Given the description of an element on the screen output the (x, y) to click on. 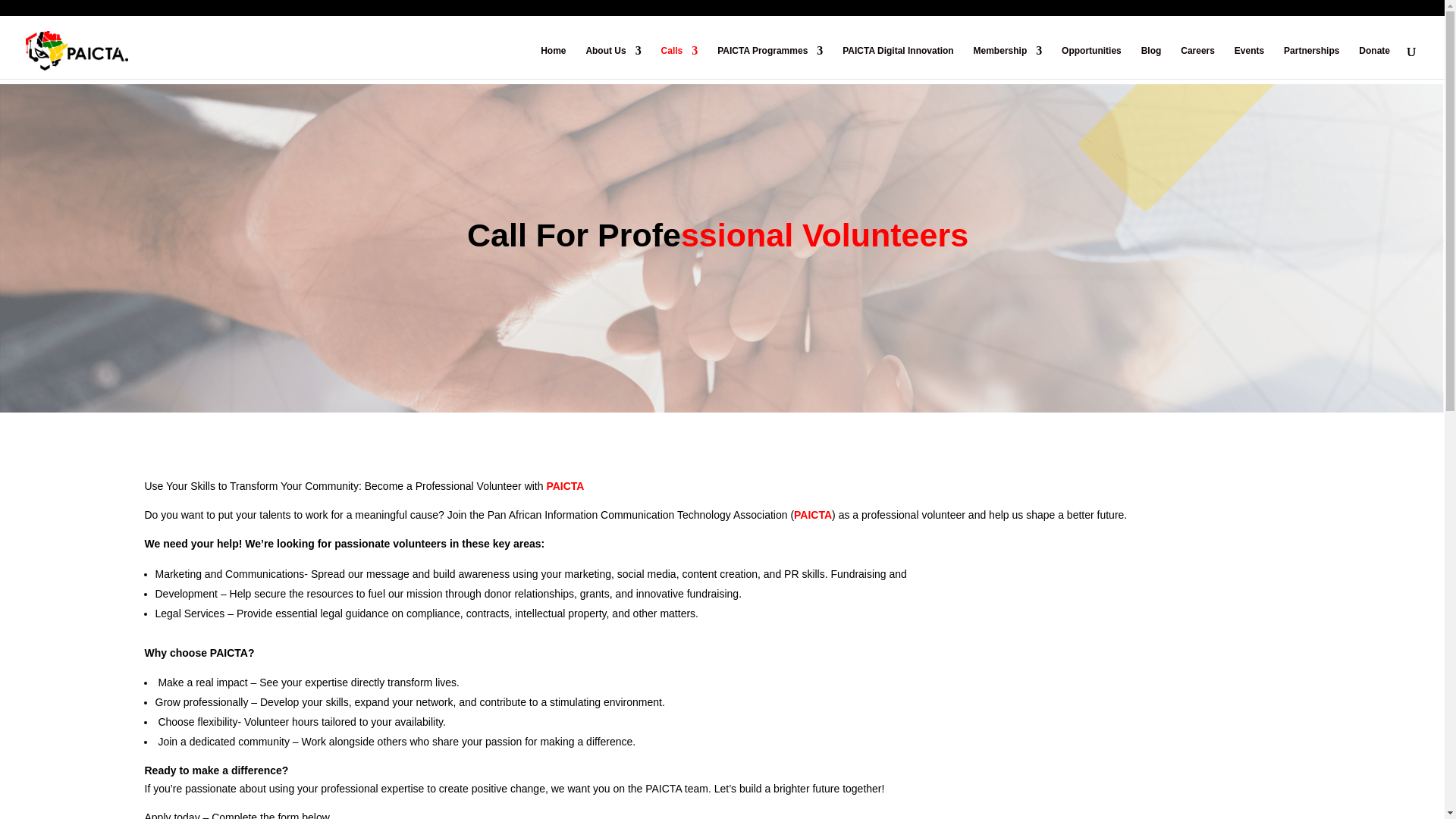
Partnerships (1311, 61)
Calls (679, 61)
Membership (1008, 61)
About Us (612, 61)
PAICTA Digital Innovation (898, 61)
Careers (1197, 61)
Donate (1374, 61)
PAICTA Programmes (769, 61)
Opportunities (1091, 61)
